Given the description of an element on the screen output the (x, y) to click on. 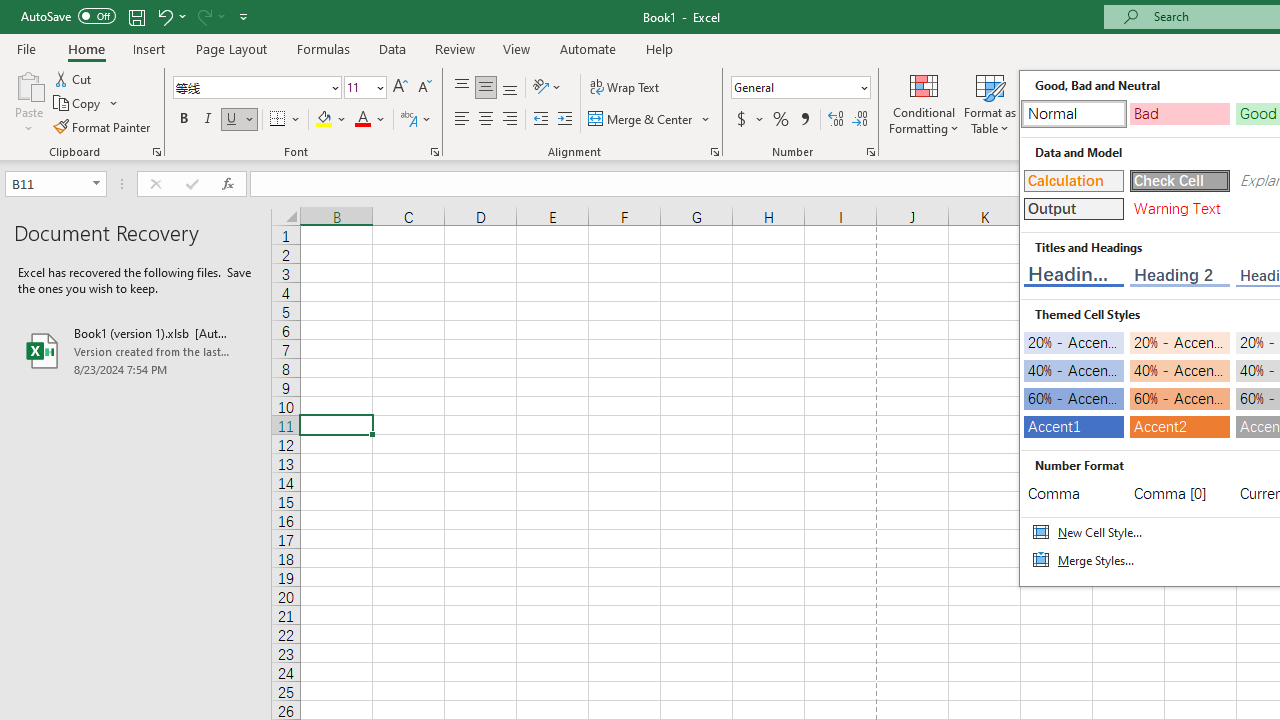
Font Color (370, 119)
Font (256, 87)
Office Clipboard... (156, 151)
Decrease Decimal (859, 119)
Format Cell Number (870, 151)
Decrease Indent (540, 119)
Center (485, 119)
Show Phonetic Field (416, 119)
Italic (207, 119)
Orientation (547, 87)
